Given the description of an element on the screen output the (x, y) to click on. 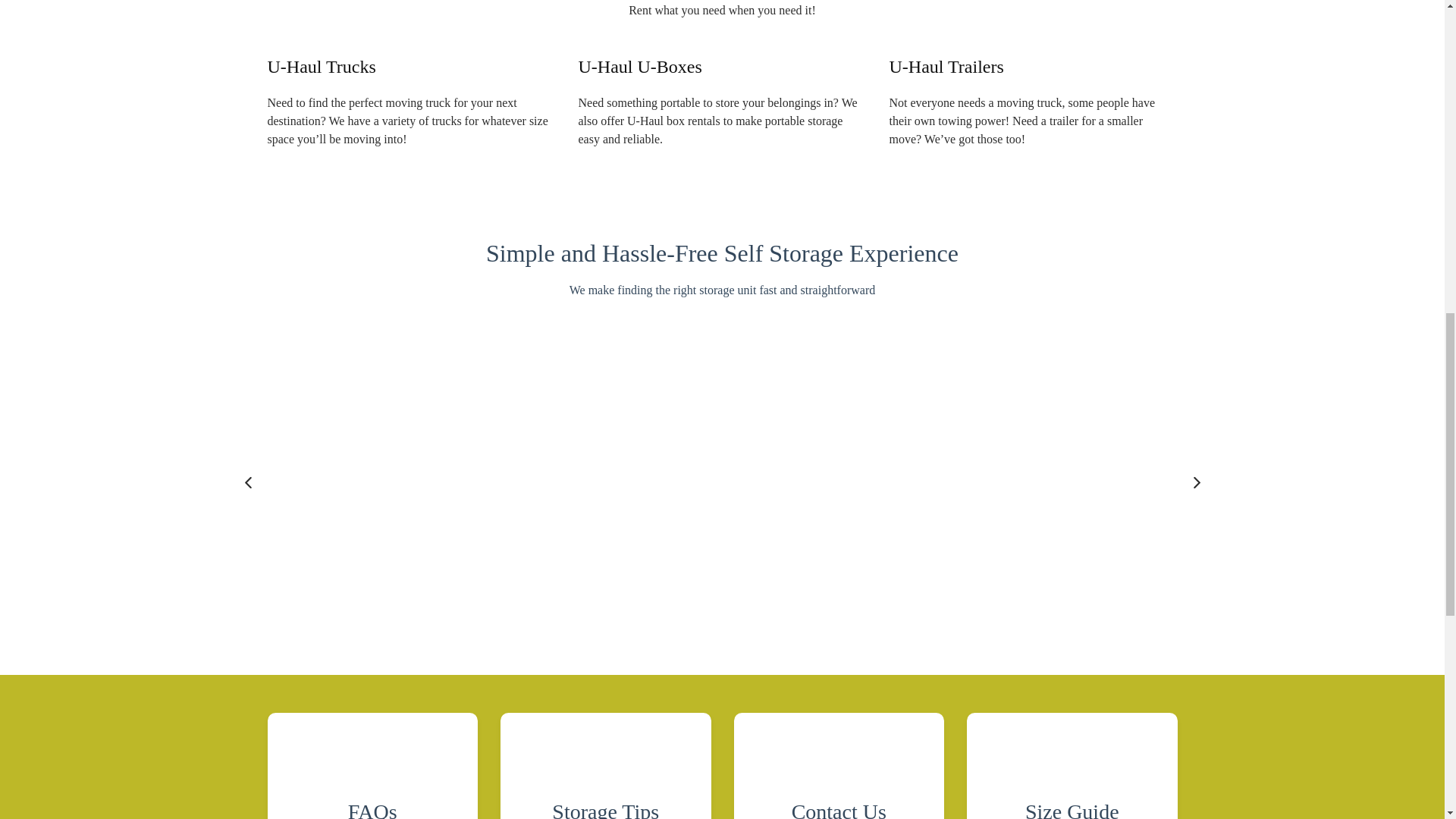
Size Guide (1071, 765)
Storage Tips (605, 765)
Contact Us (838, 765)
FAQs (371, 765)
